Given the description of an element on the screen output the (x, y) to click on. 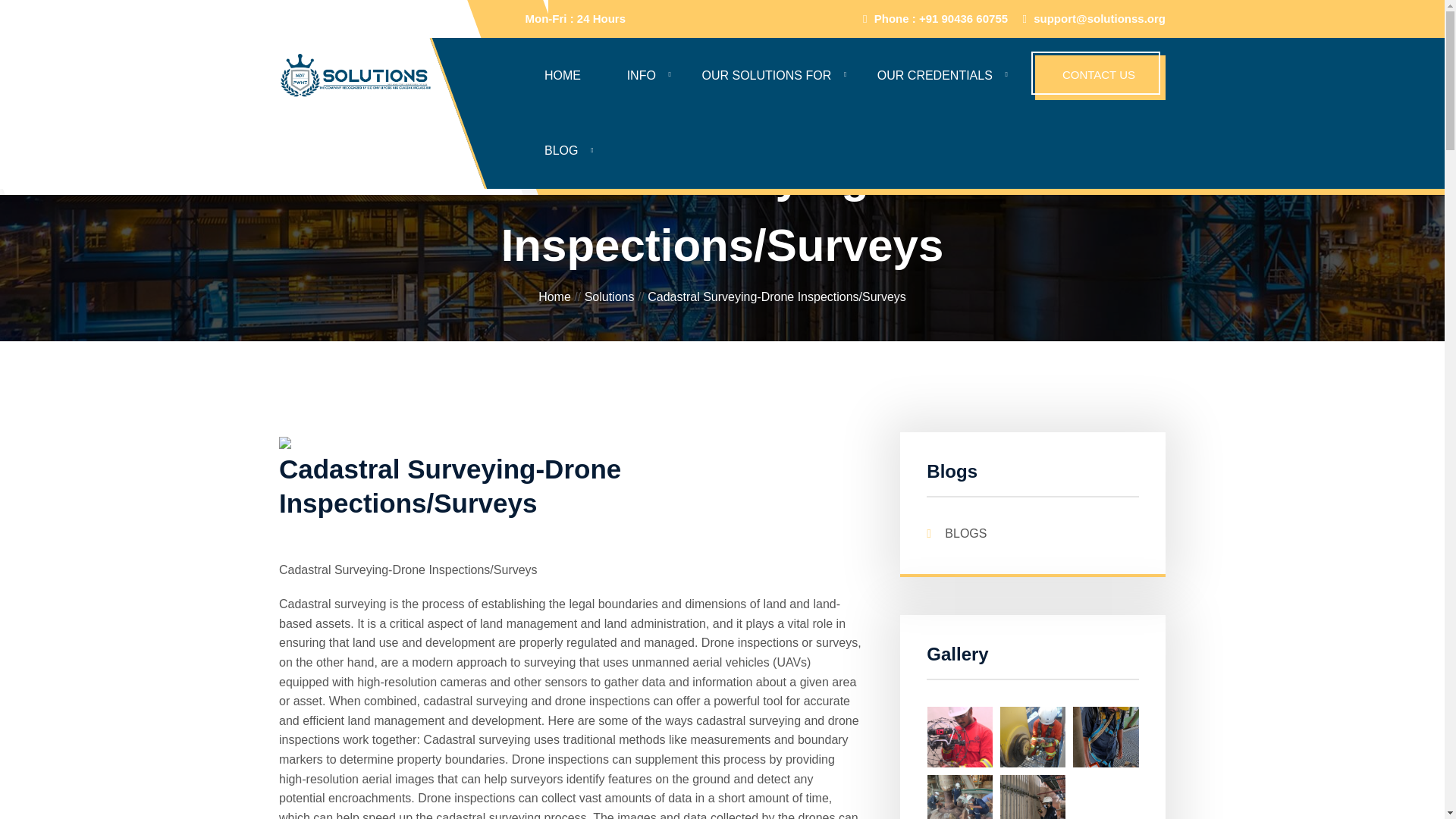
Image 1 Title will come here (1105, 735)
CONTACT US (1100, 77)
Image 1 Title will come here (1032, 735)
OUR SOLUTIONS FOR (767, 75)
Image 1 Title will come here (959, 735)
Image 1 Title will come here (1032, 803)
Image 1 Title will come here (959, 803)
